Given the description of an element on the screen output the (x, y) to click on. 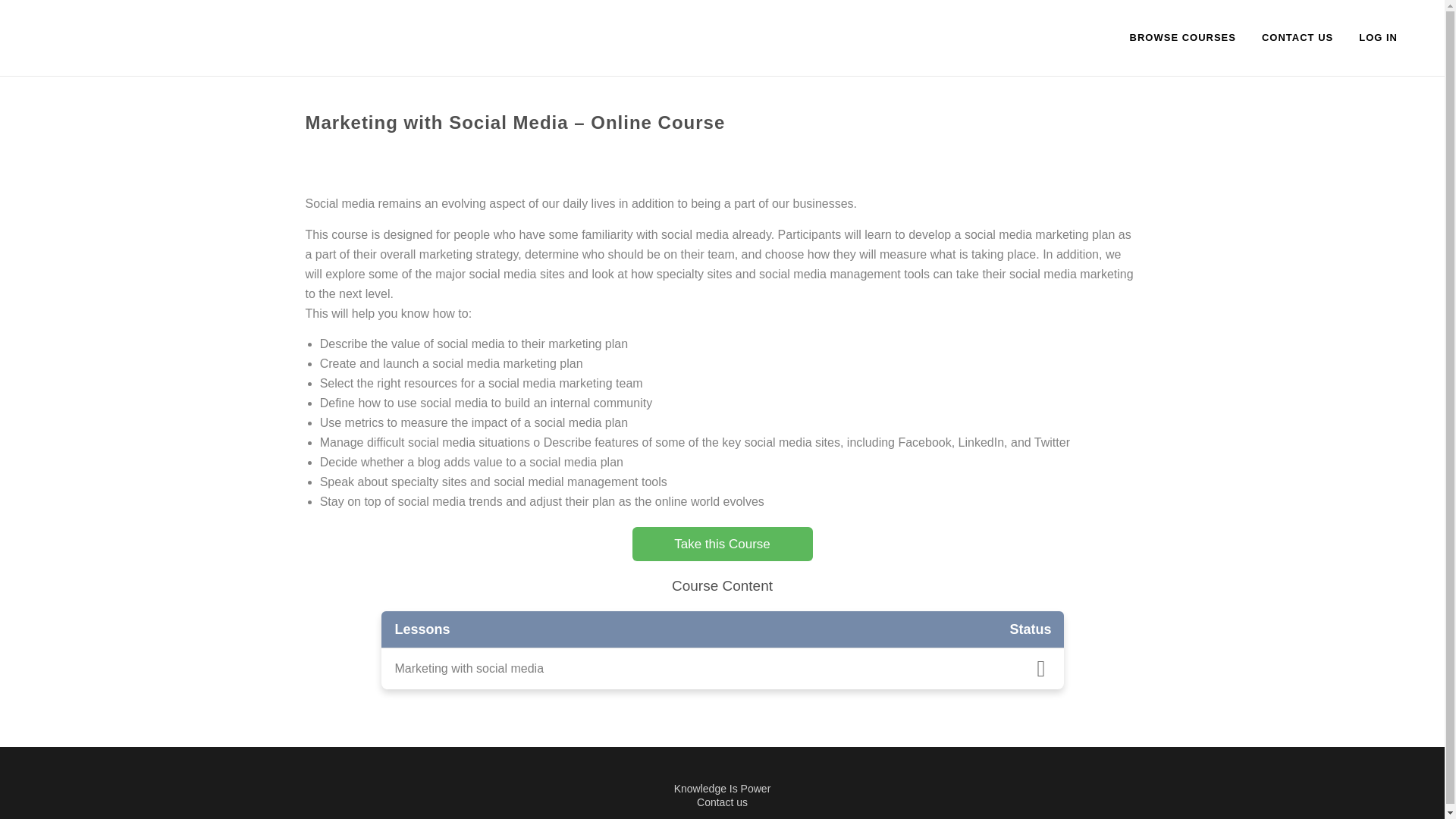
CONTACT US (1297, 38)
courses-top-menu (1182, 38)
BROWSE COURSES (1182, 38)
